Given the description of an element on the screen output the (x, y) to click on. 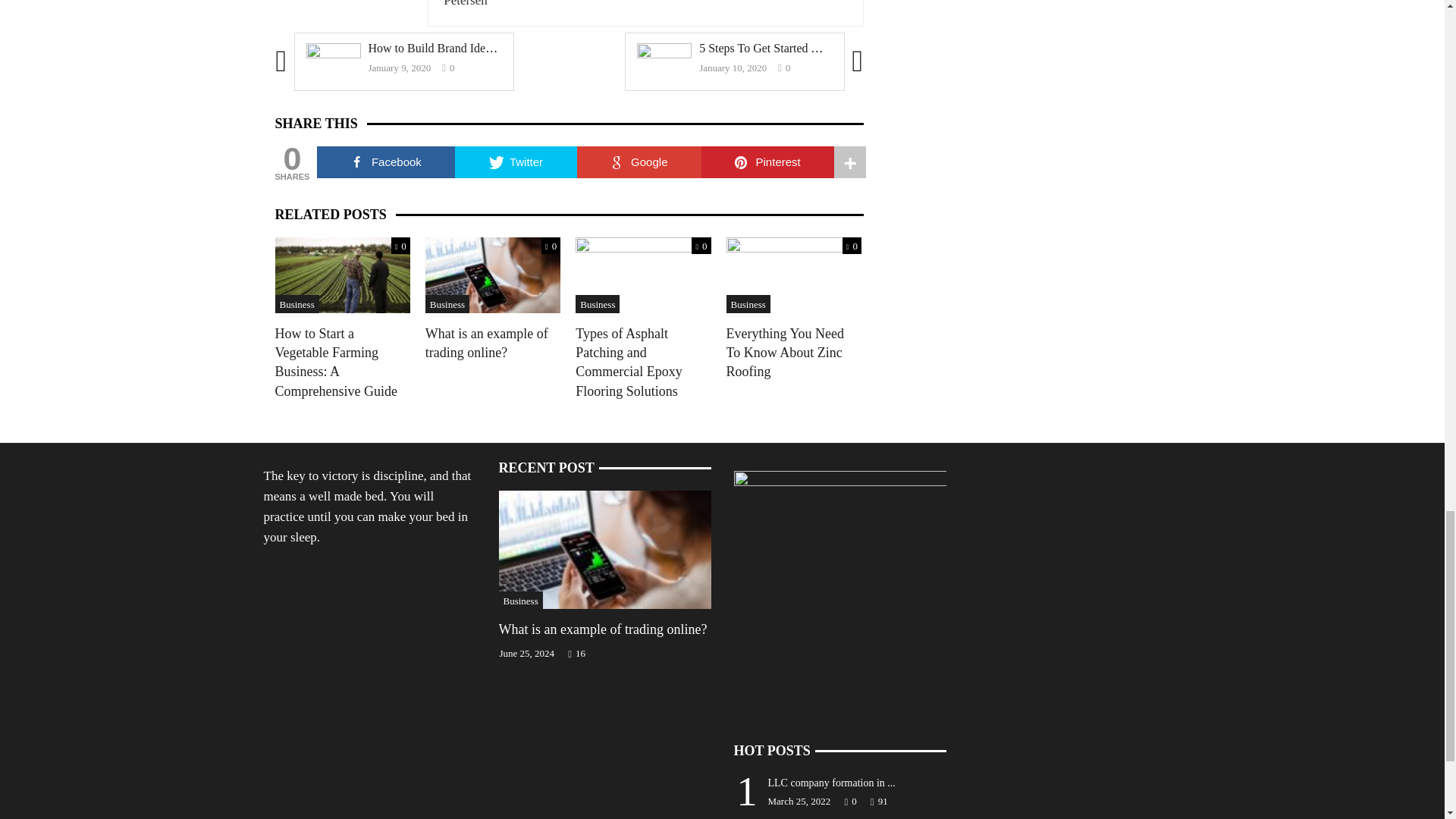
What is an example of trading online? (605, 548)
Everything You Need To Know About Zinc Roofing (793, 273)
What is an example of trading online? (492, 273)
